Given the description of an element on the screen output the (x, y) to click on. 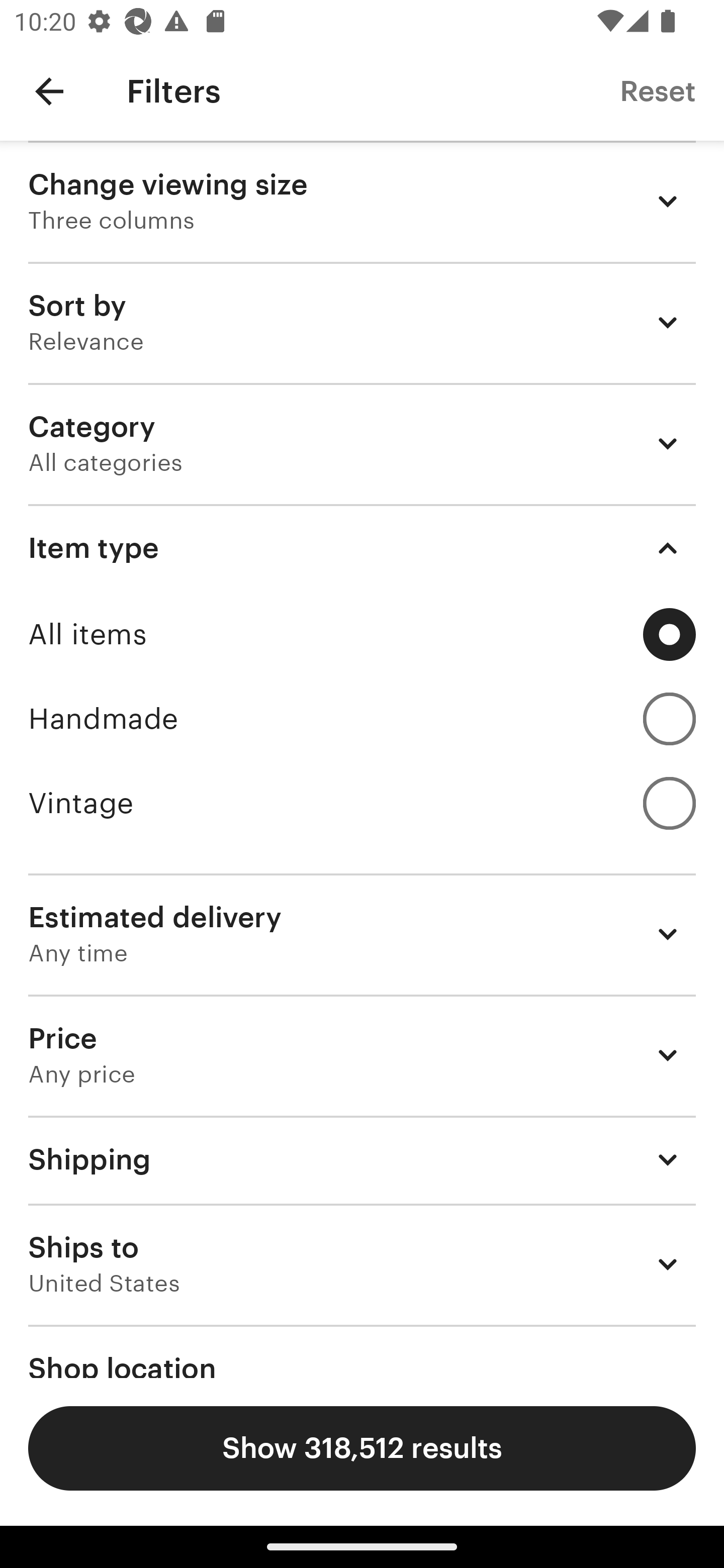
Navigate up (49, 91)
Reset (657, 90)
Change viewing size Three columns (362, 201)
Sort by Relevance (362, 321)
Category All categories (362, 442)
Item type (362, 547)
All items (362, 633)
Handmade (362, 717)
Vintage (362, 802)
Estimated delivery Any time (362, 933)
Price Any price (362, 1055)
Shipping (362, 1160)
Ships to United States (362, 1264)
Shop location (362, 1351)
Show 318,512 results Show results (361, 1448)
